Given the description of an element on the screen output the (x, y) to click on. 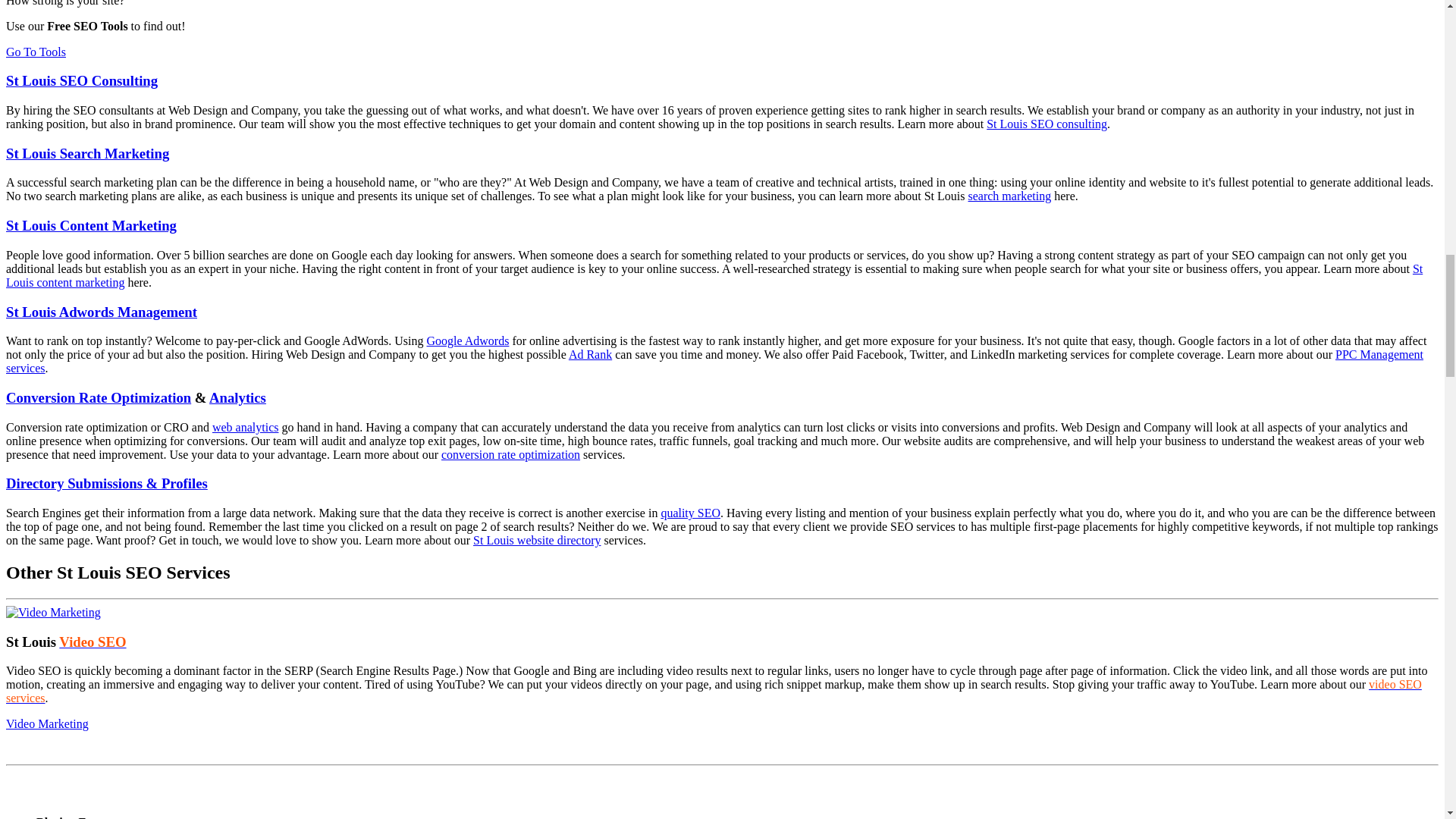
Go To Tools (35, 51)
St Louis Video Marketing (52, 612)
search marketing (1009, 195)
St Louis Adwords Management (100, 311)
St Louis Content Marketing (90, 225)
St Louis SEO consulting (1046, 123)
St Louis Search Marketing (86, 153)
St Louis SEO Consulting (81, 80)
St Louis content marketing (713, 275)
